Given the description of an element on the screen output the (x, y) to click on. 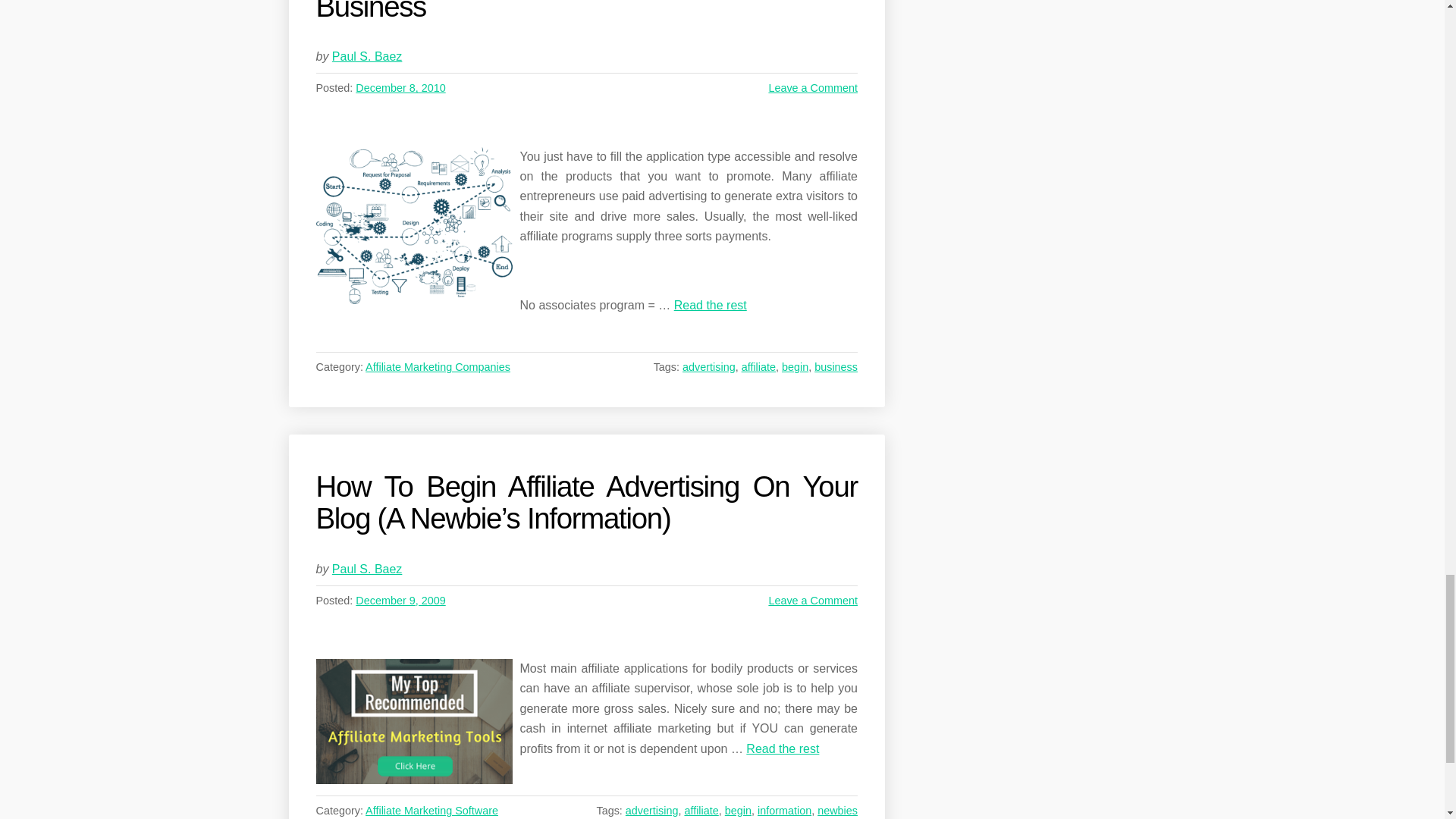
Posts by Paul S. Baez (367, 568)
Posts by Paul S. Baez (367, 56)
